Given the description of an element on the screen output the (x, y) to click on. 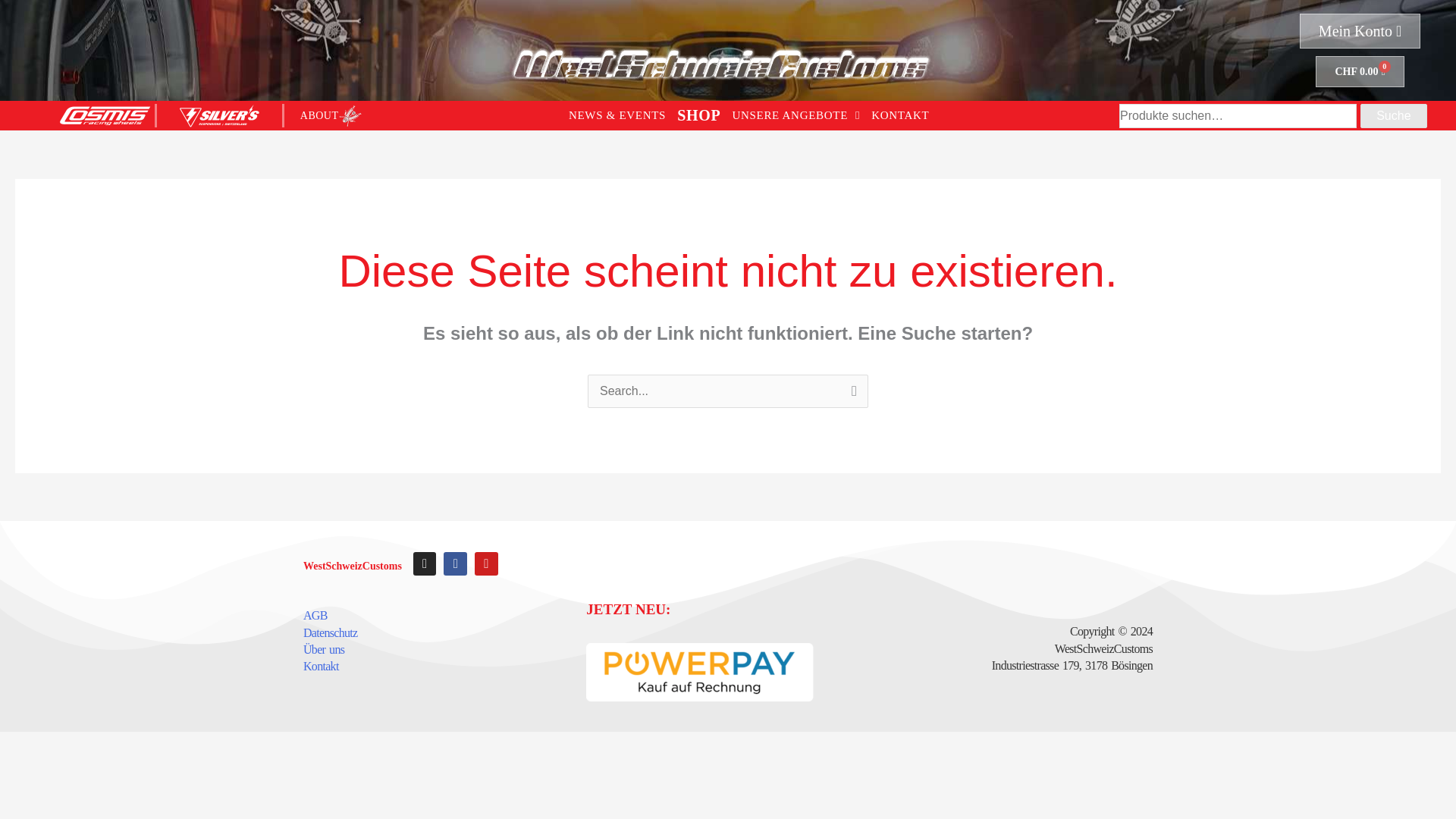
Kontakt (320, 666)
WSC-LOGO-Fliege-weiss-45 (350, 115)
KONTAKT (900, 115)
Facebook (455, 563)
WestSchweizCustoms (1359, 71)
Instagram (351, 565)
Suche (424, 563)
AGB (1392, 115)
ABOUT (314, 615)
